Given the description of an element on the screen output the (x, y) to click on. 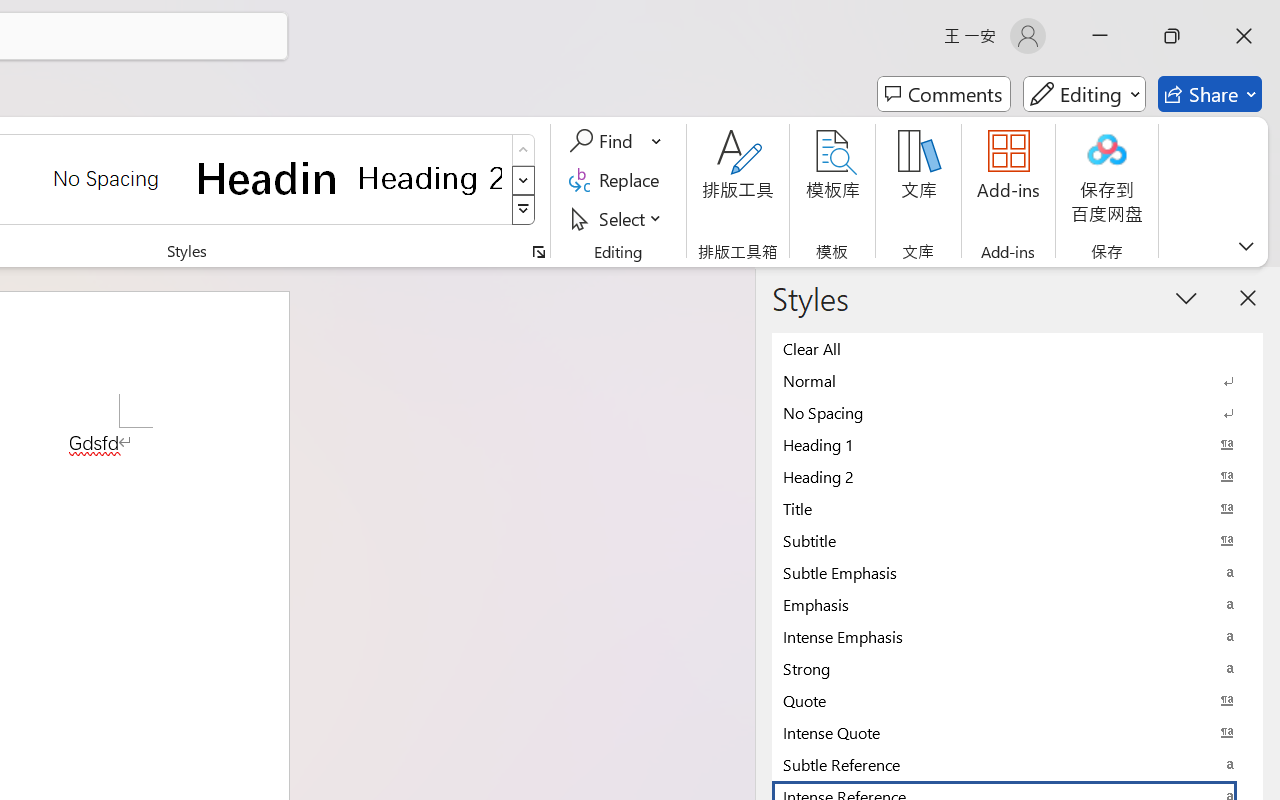
Intense Emphasis (1017, 636)
Heading 2 (429, 178)
Quote (1017, 700)
Styles (523, 209)
Styles... (538, 252)
Normal (1017, 380)
Subtitle (1017, 540)
